Given the description of an element on the screen output the (x, y) to click on. 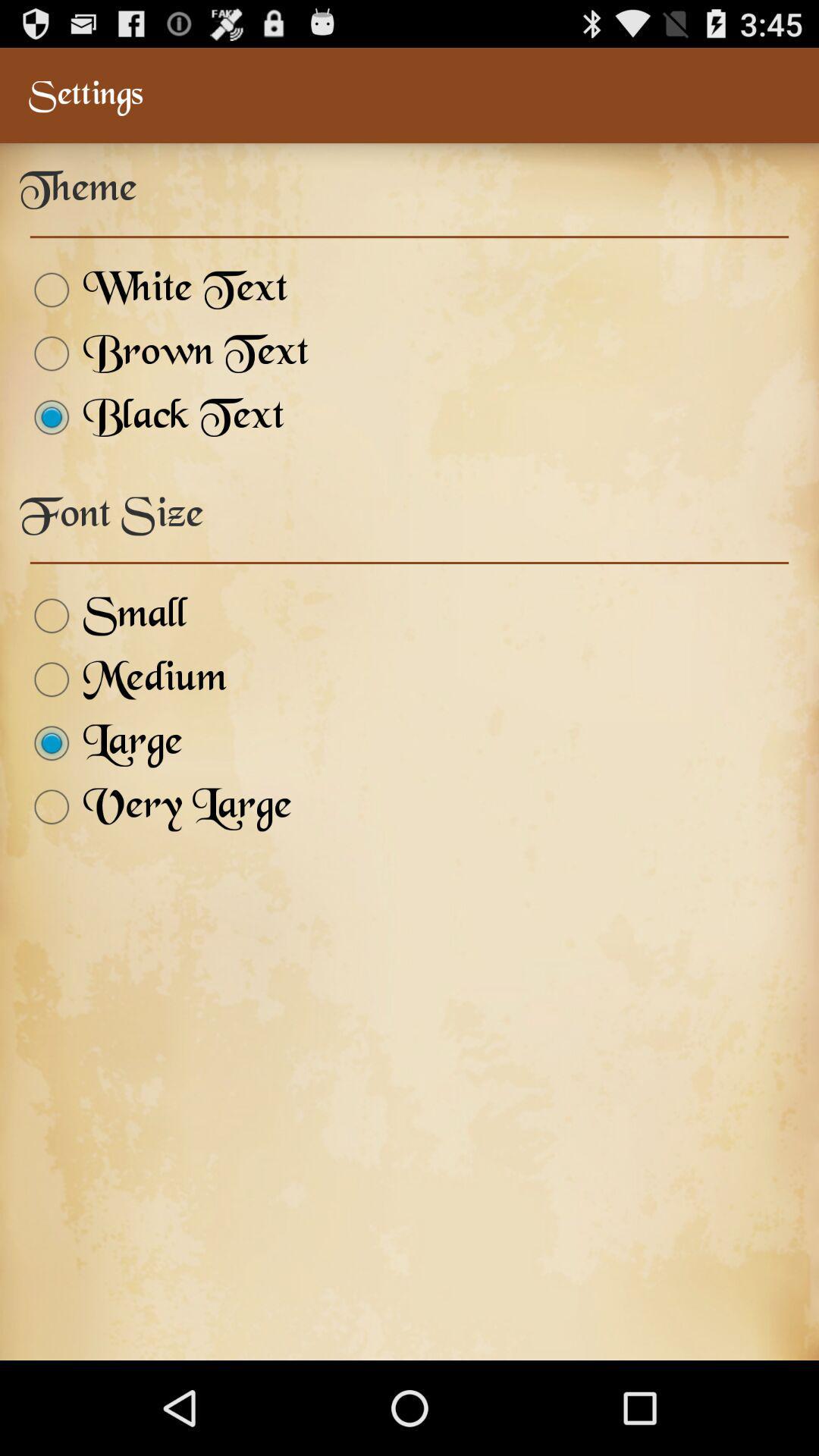
open brown text (163, 353)
